Given the description of an element on the screen output the (x, y) to click on. 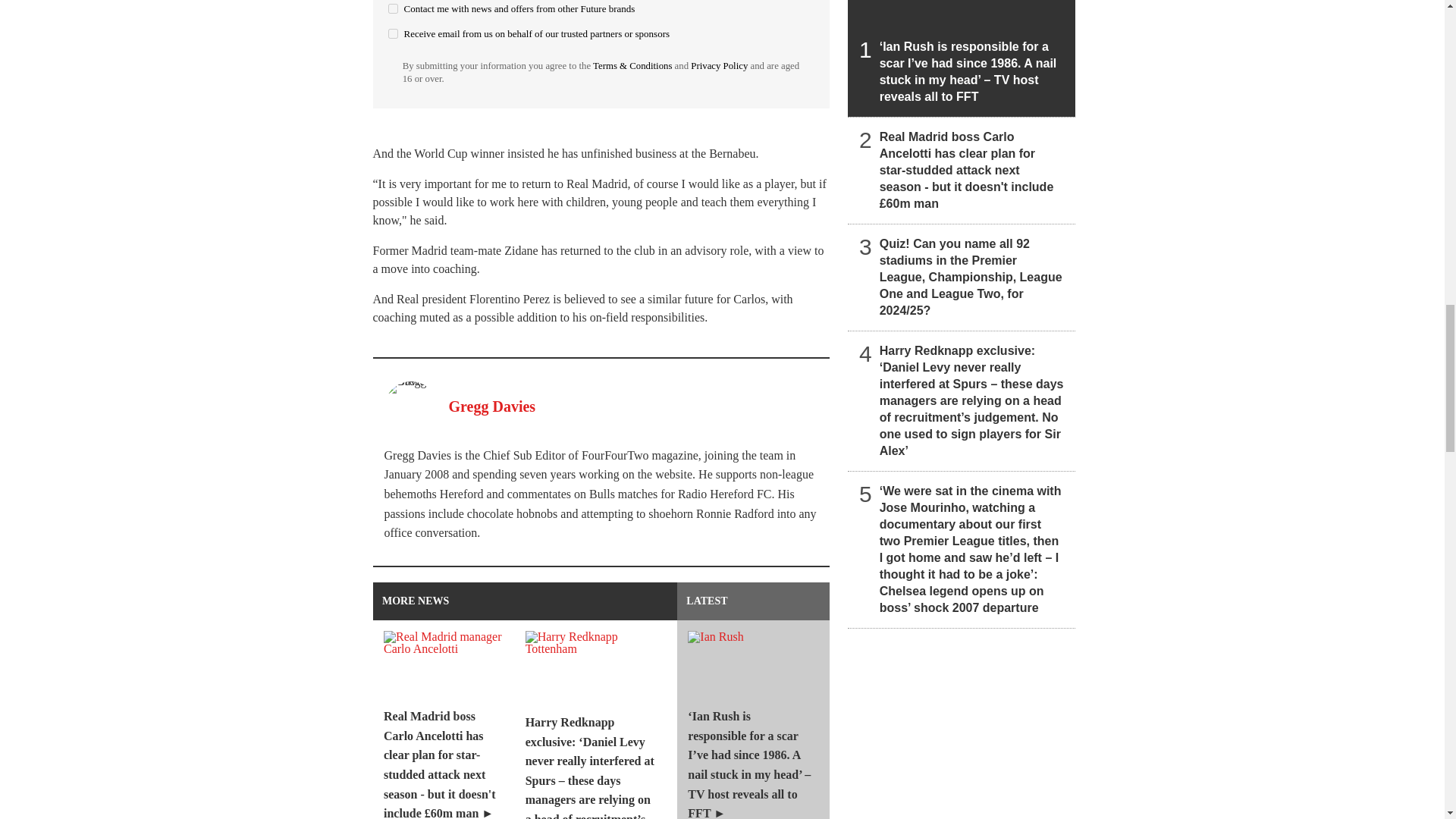
on (392, 33)
on (392, 8)
